Given the description of an element on the screen output the (x, y) to click on. 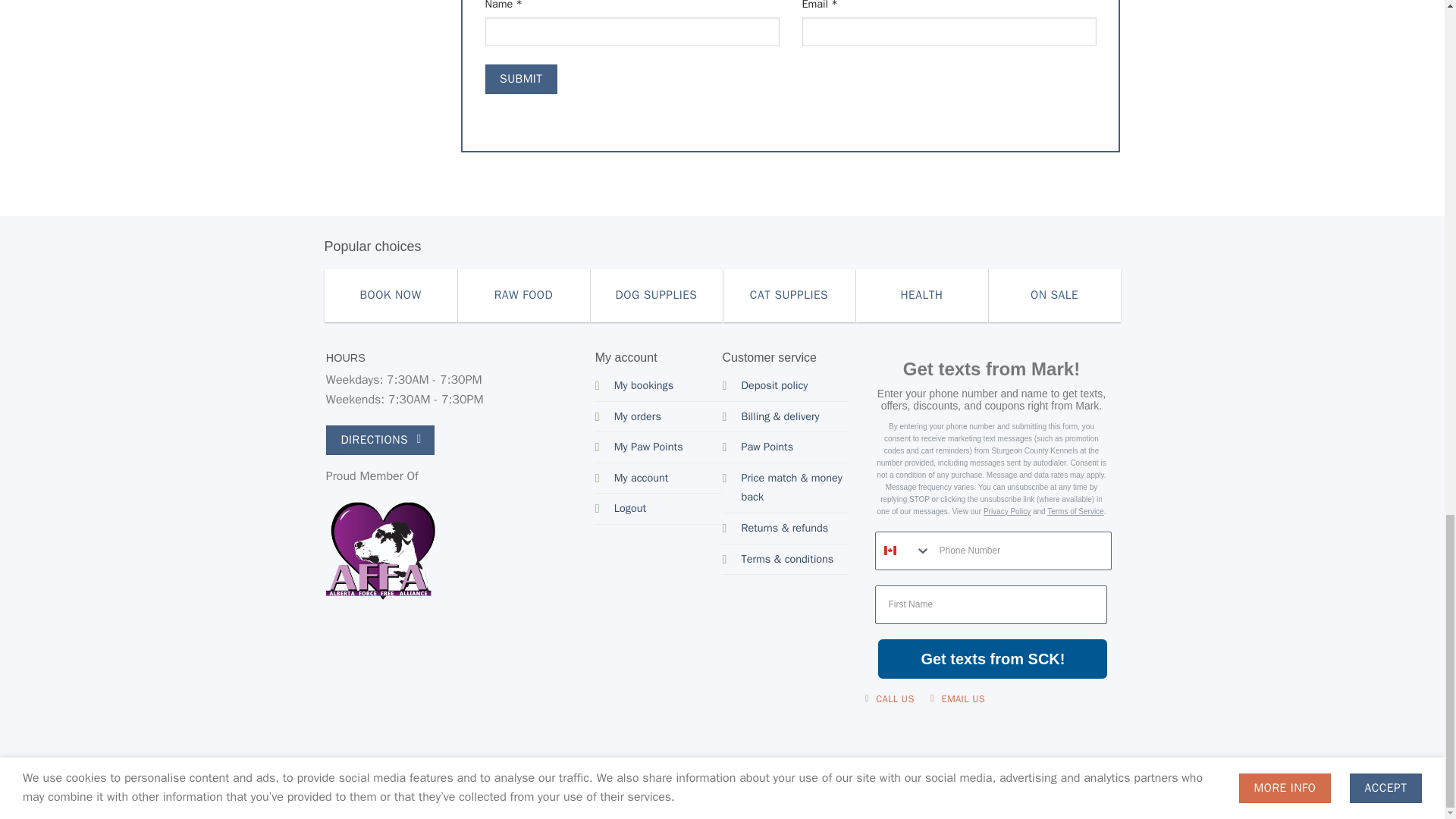
Canada (889, 550)
Submit (520, 79)
